Given the description of an element on the screen output the (x, y) to click on. 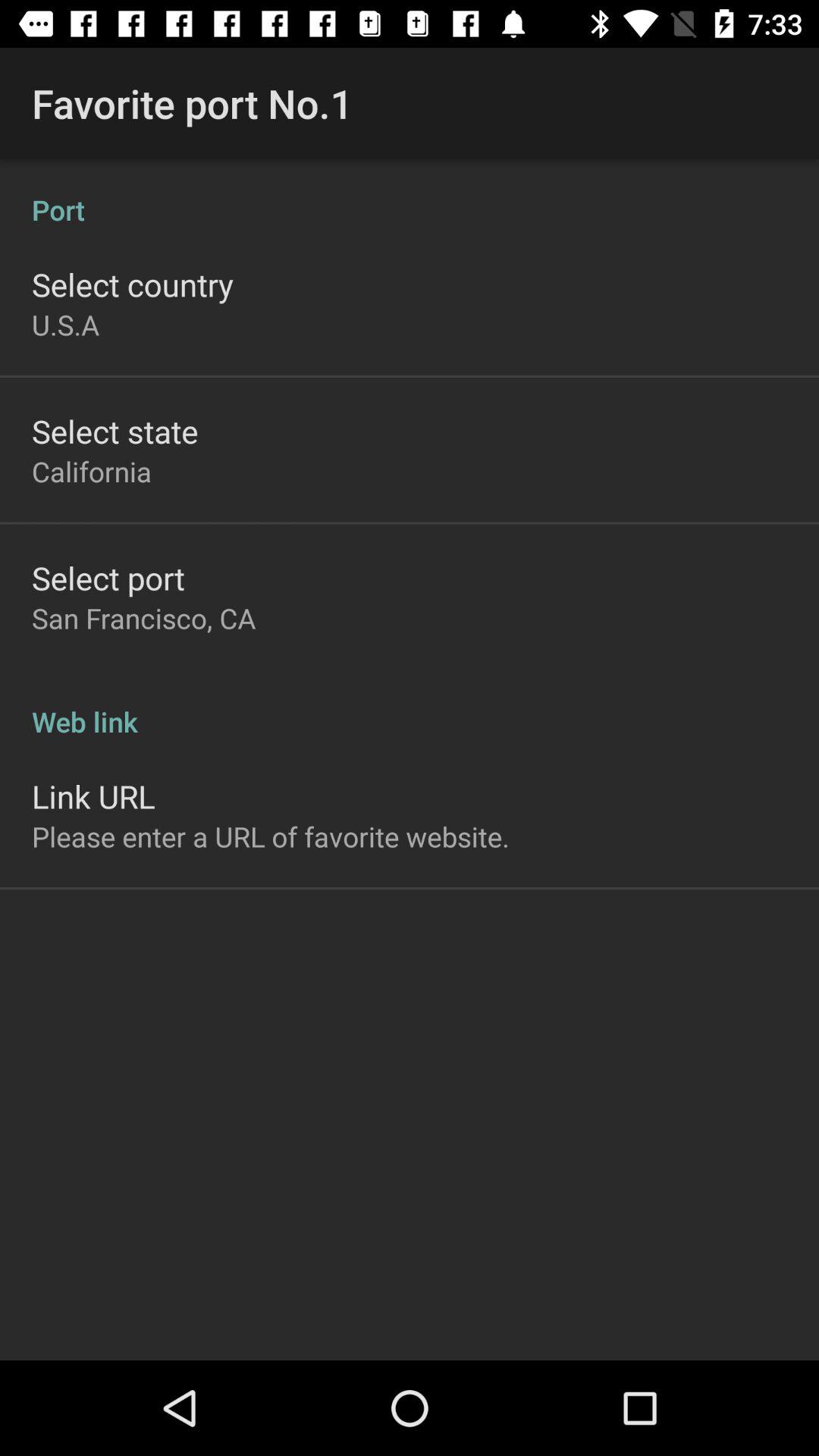
tap icon below the web link icon (93, 795)
